Given the description of an element on the screen output the (x, y) to click on. 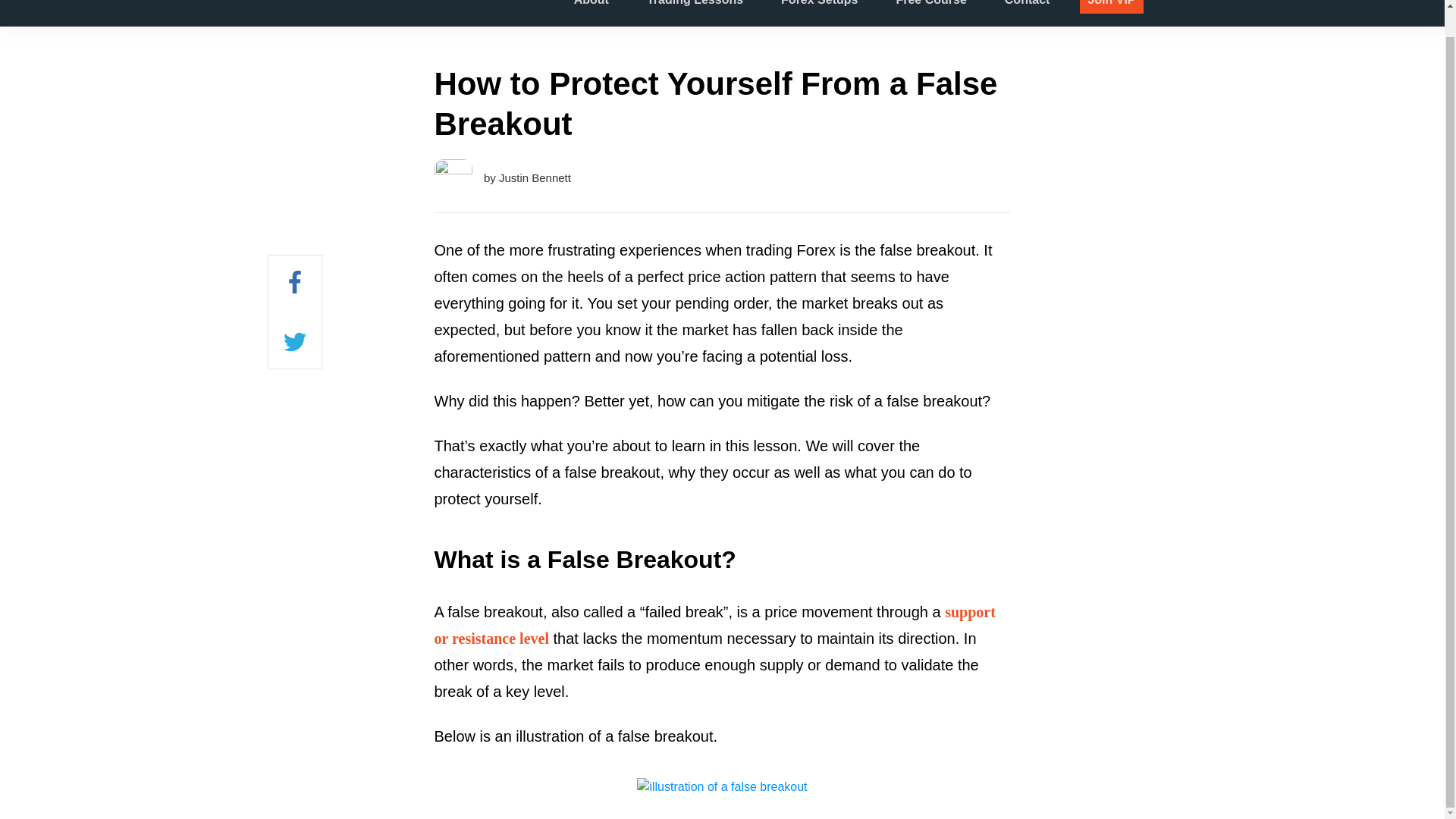
Forex Setups (818, 6)
Twitter-avatar (452, 177)
About (590, 6)
Join VIP (1111, 6)
How to Protect Yourself From a False Breakout (715, 103)
Free Course (930, 6)
Trading Lessons (694, 6)
support or resistance level (713, 625)
Justin Bennett (534, 177)
How to Protect Yourself From a False Breakout 1 (721, 787)
How to Protect Yourself From a False Breakout (715, 103)
Contact (1026, 6)
